Given the description of an element on the screen output the (x, y) to click on. 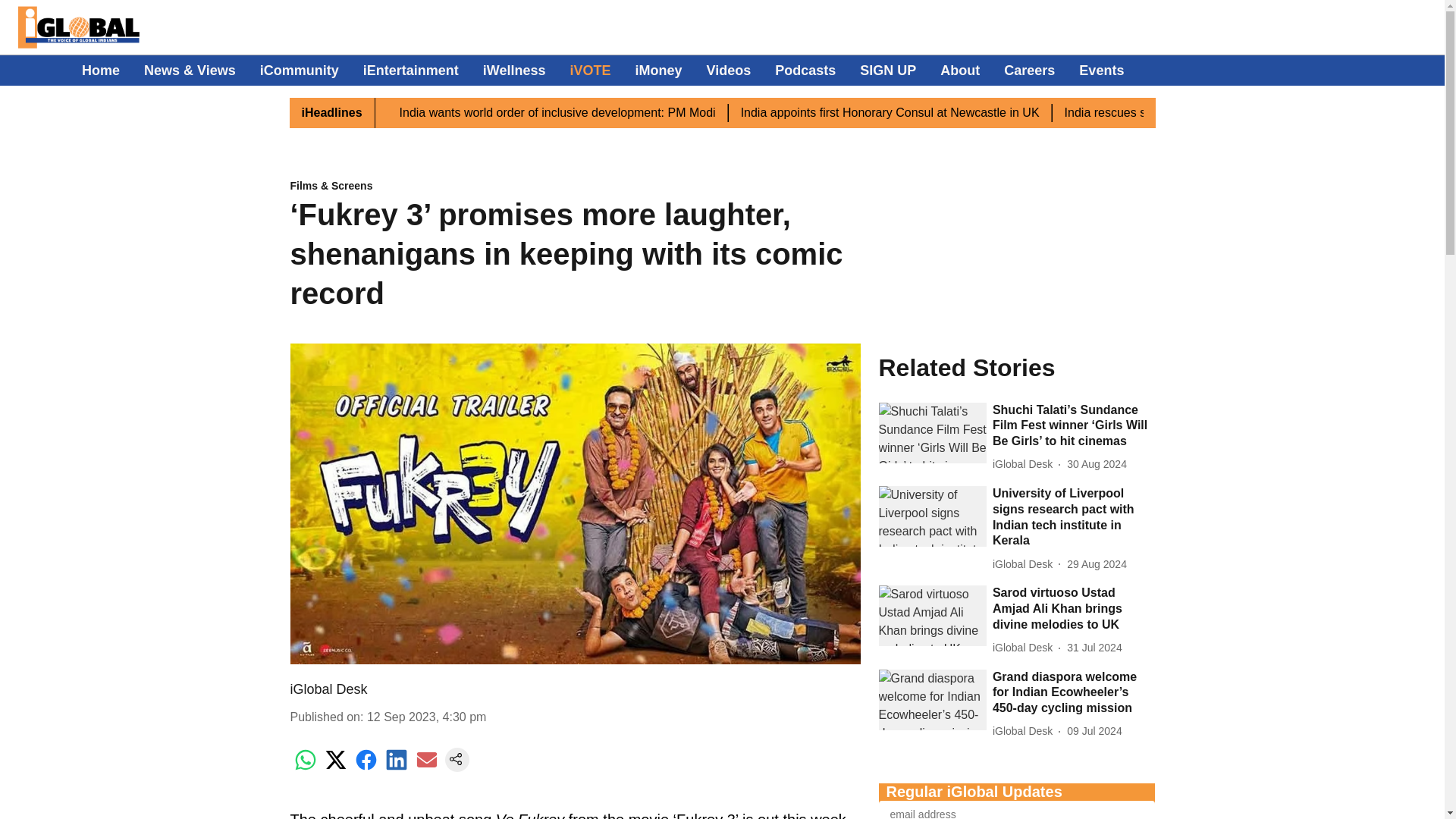
2024-07-31 08:30 (1094, 647)
Podcasts (804, 70)
Home (100, 70)
iVOTE (590, 70)
iCommunity (299, 70)
iEntertainment (410, 70)
iMoney (658, 70)
2024-08-29 08:30 (1096, 564)
2023-09-12 08:30 (426, 716)
2024-07-09 08:30 (1094, 731)
